Given the description of an element on the screen output the (x, y) to click on. 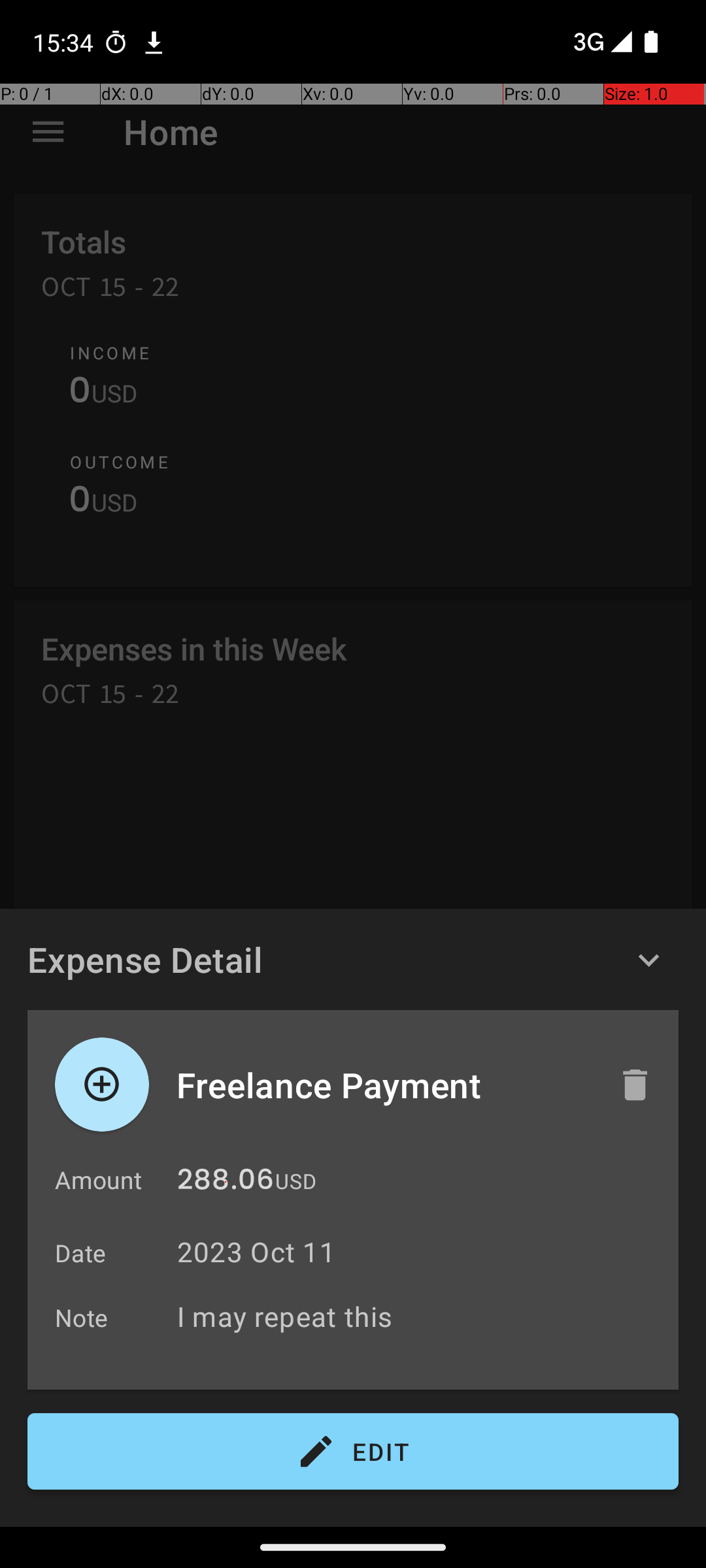
288.06 Element type: android.widget.TextView (225, 1182)
Chrome notification: m.youtube.com Element type: android.widget.ImageView (153, 41)
